Given the description of an element on the screen output the (x, y) to click on. 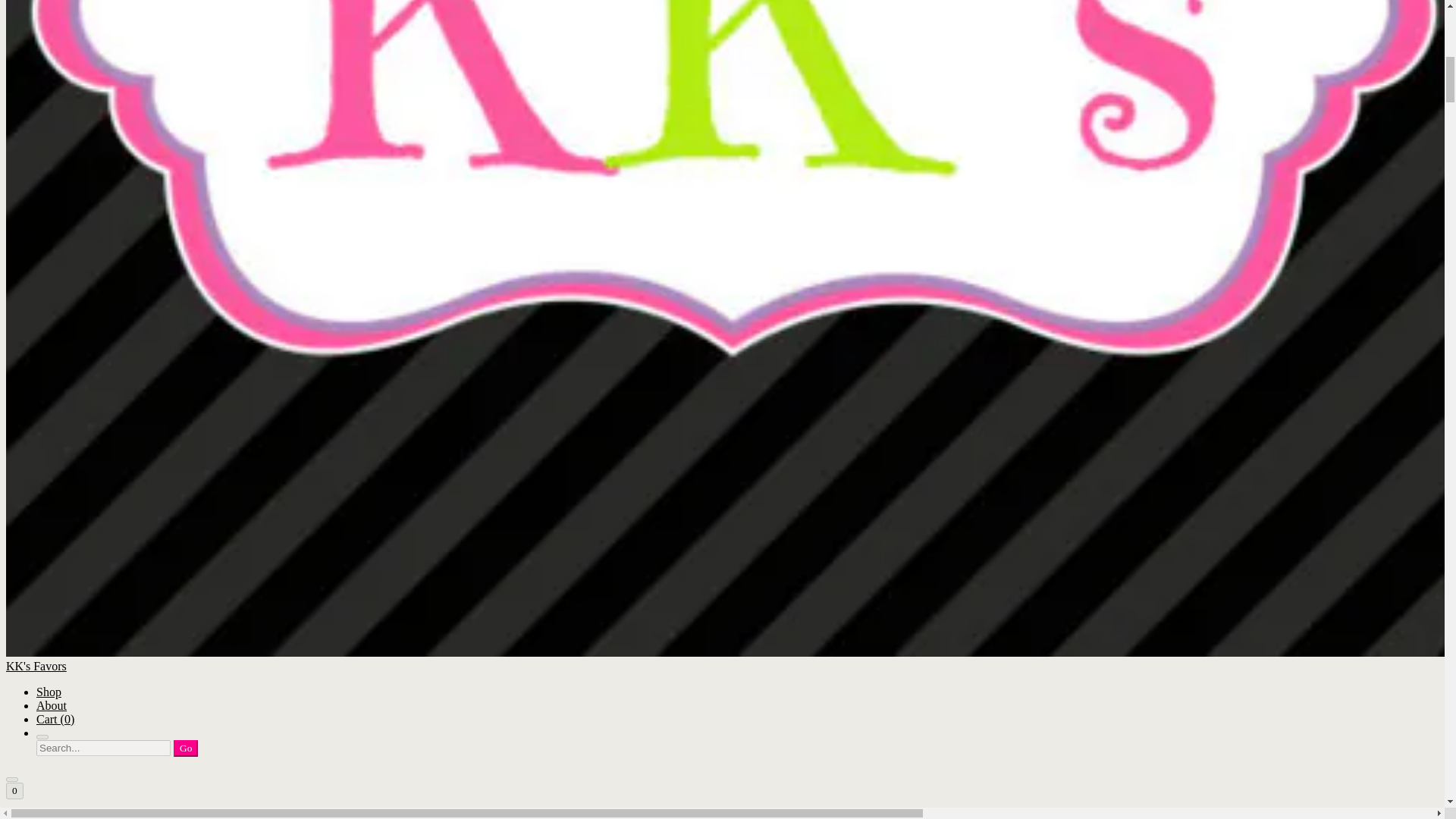
0 (14, 790)
About (51, 705)
Go (185, 748)
Shop (48, 691)
Go (185, 748)
